Given the description of an element on the screen output the (x, y) to click on. 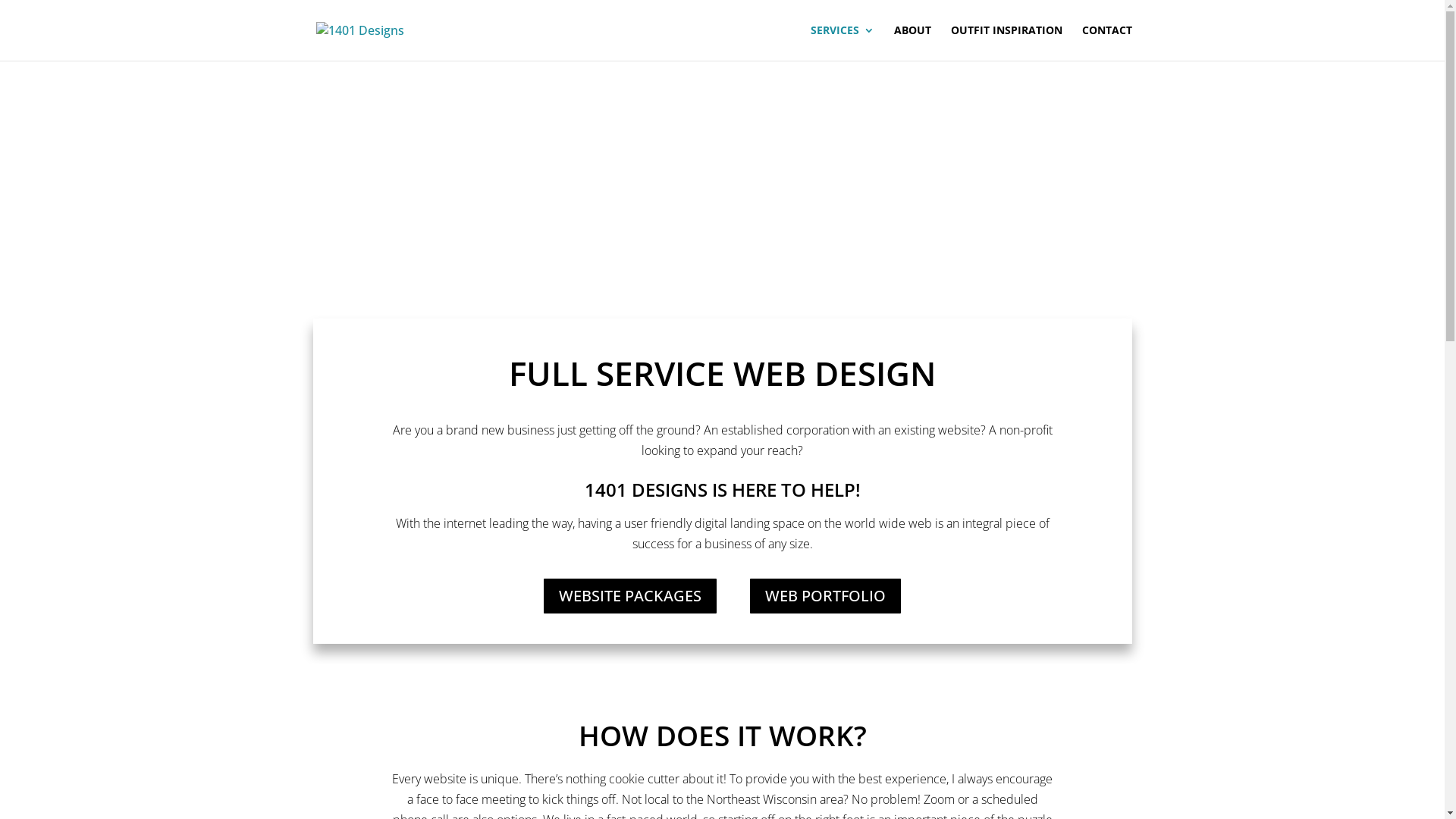
OUTFIT INSPIRATION Element type: text (1006, 42)
SERVICES Element type: text (841, 42)
CONTACT Element type: text (1106, 42)
WEB PORTFOLIO Element type: text (825, 596)
ABOUT Element type: text (911, 42)
WEBSITE PACKAGES Element type: text (630, 596)
